Given the description of an element on the screen output the (x, y) to click on. 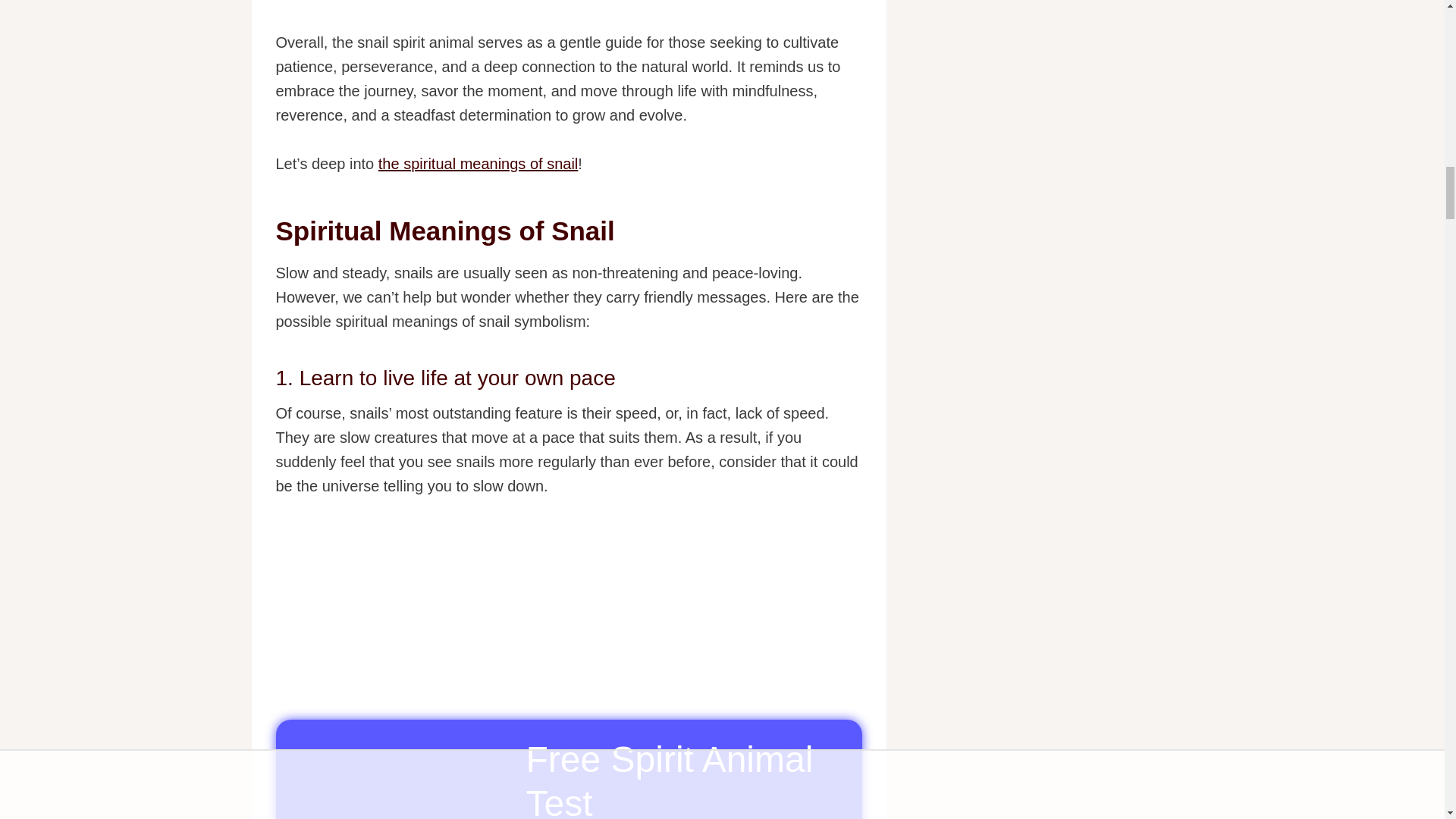
the spiritual meanings of snail (478, 163)
